Given the description of an element on the screen output the (x, y) to click on. 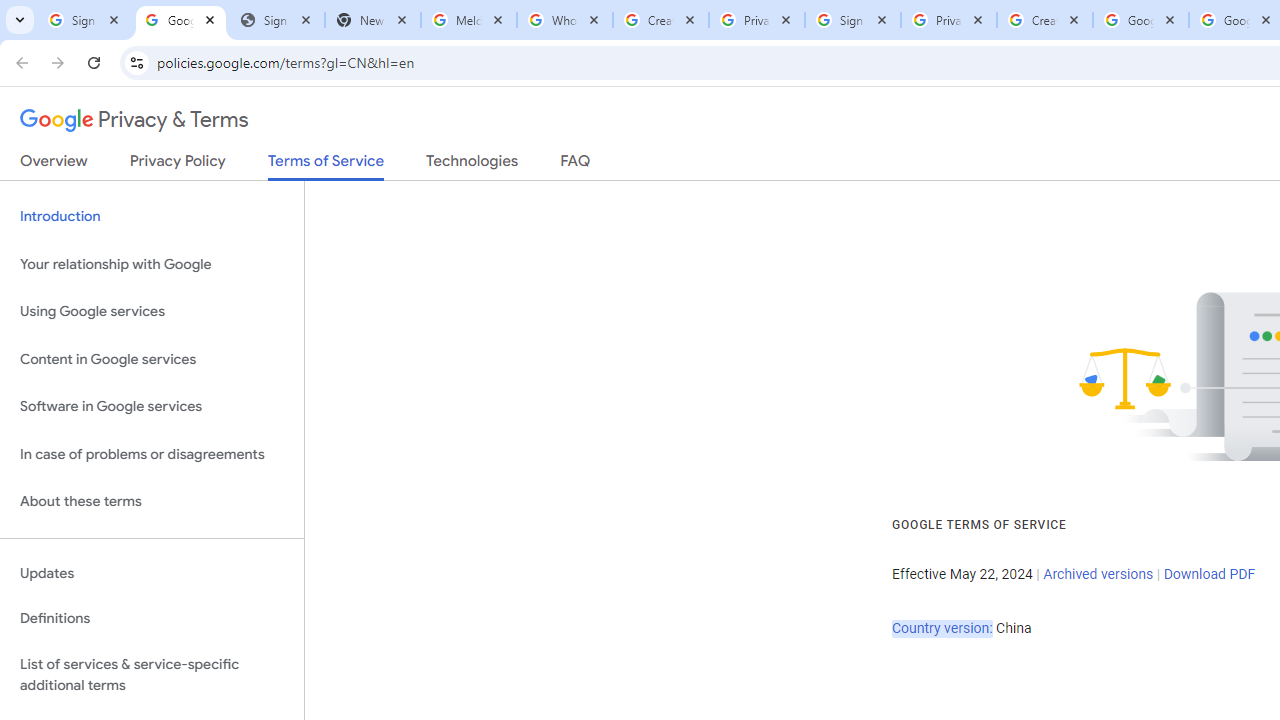
Download PDF (1209, 574)
In case of problems or disagreements (152, 453)
Definitions (152, 619)
Create your Google Account (661, 20)
Technologies (472, 165)
Sign In - USA TODAY (277, 20)
About these terms (152, 502)
